Given the description of an element on the screen output the (x, y) to click on. 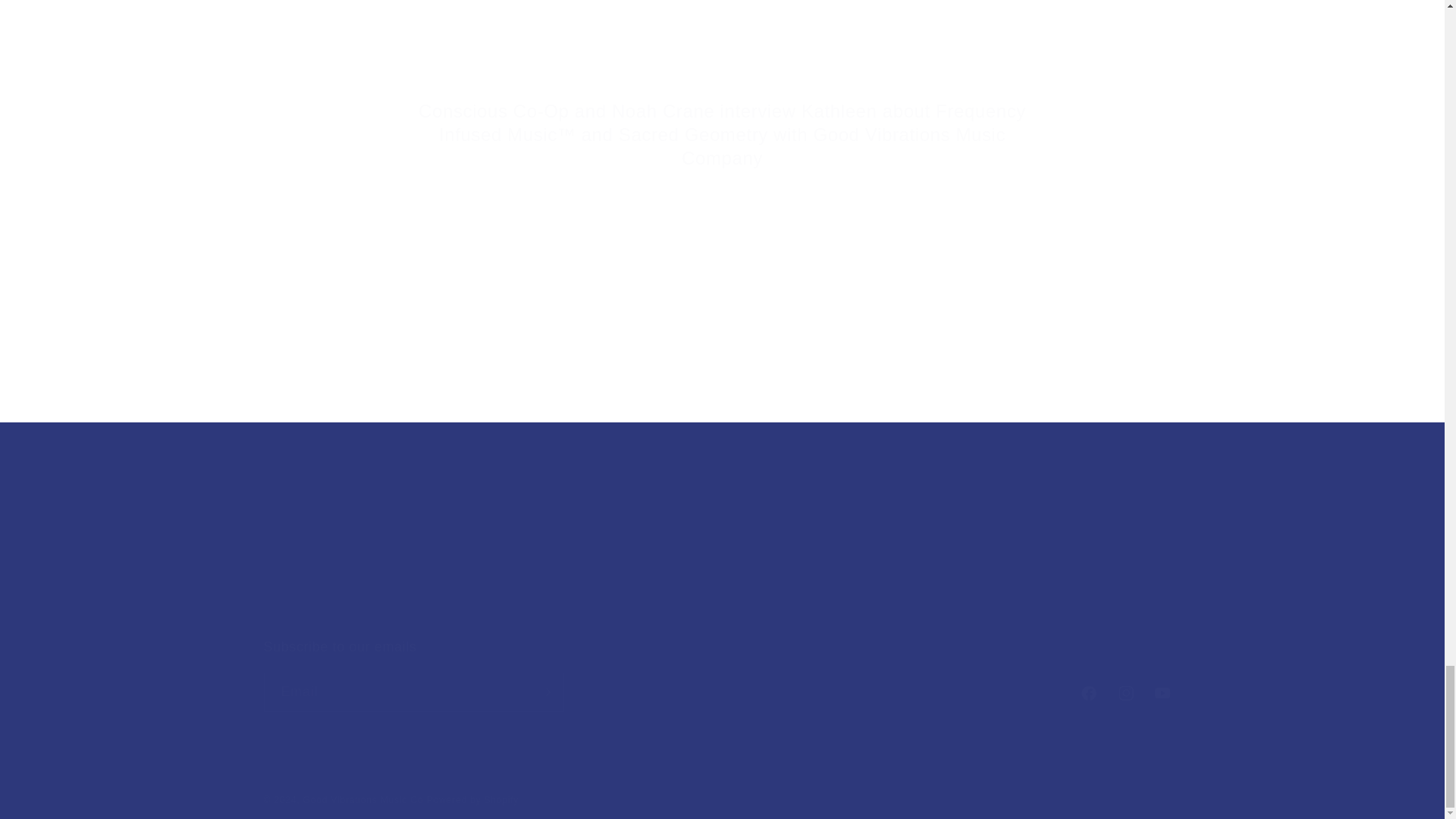
Shipping Policy (768, 558)
Contact Us (721, 674)
